Given the description of an element on the screen output the (x, y) to click on. 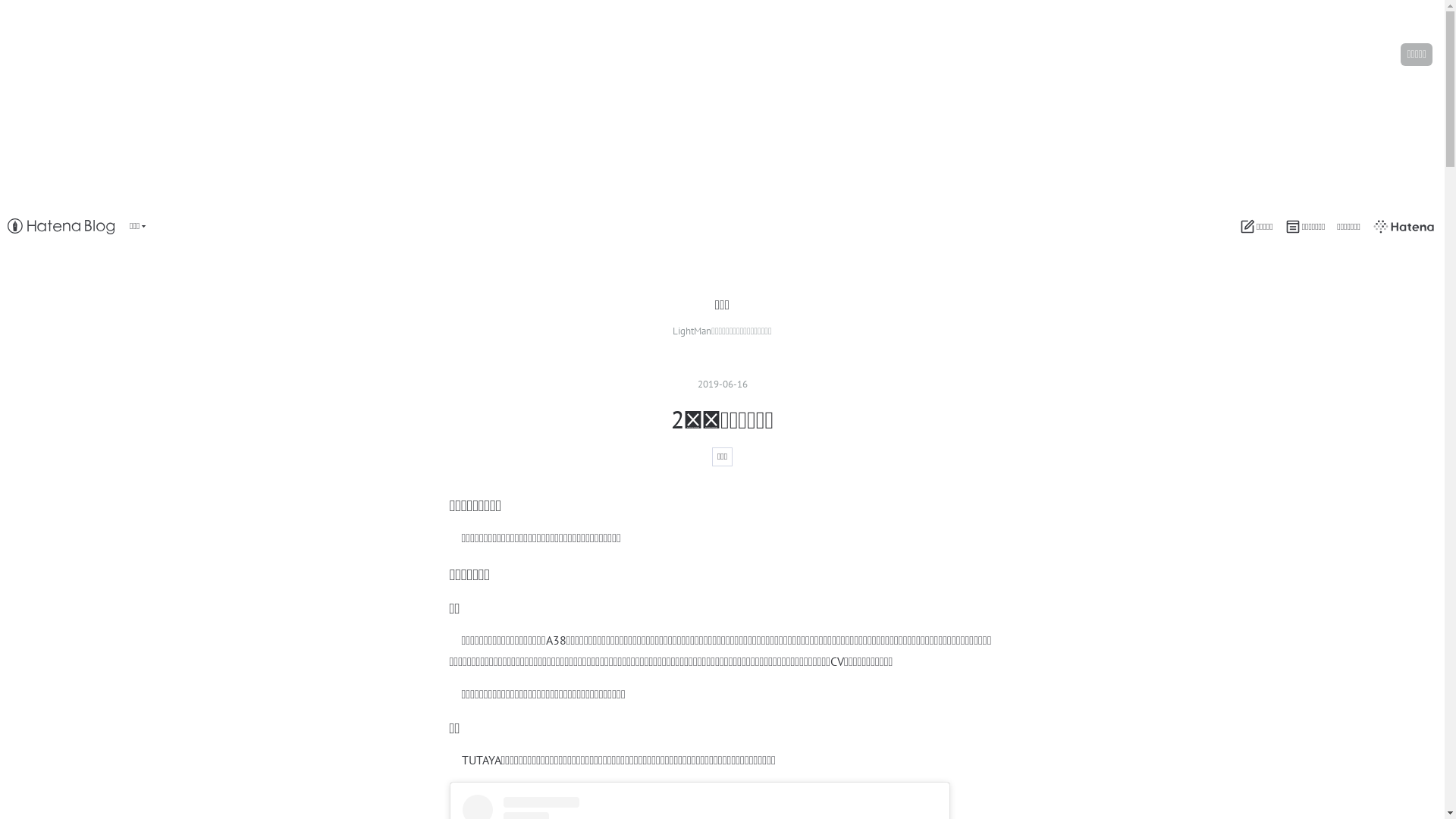
2019-06-16 Element type: text (722, 383)
Advertisement Element type: hover (455, 106)
